Given the description of an element on the screen output the (x, y) to click on. 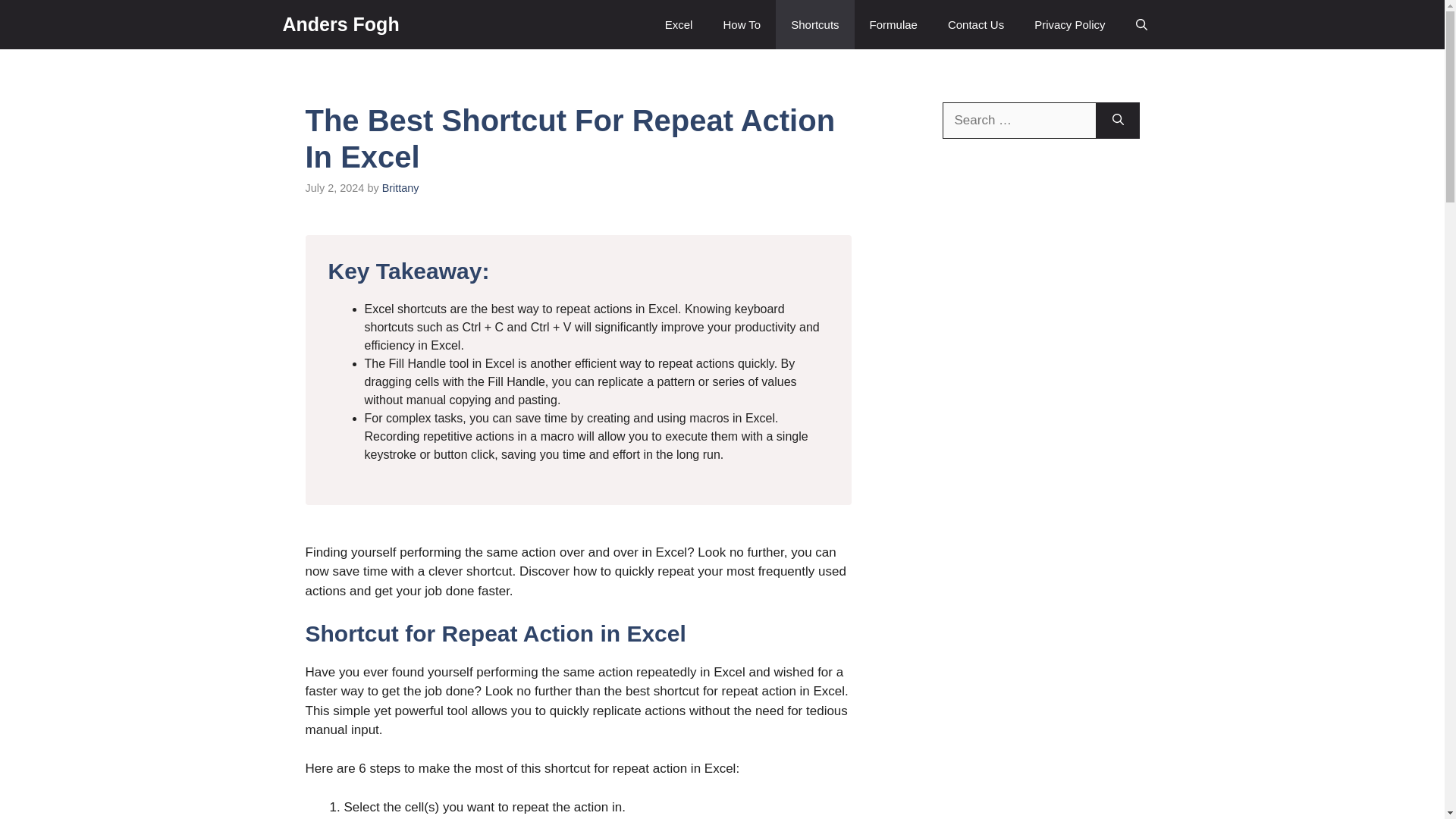
View all posts by Brittany (400, 187)
Search for: (1019, 120)
Contact Us (976, 24)
Excel (678, 24)
Privacy Policy (1069, 24)
Anders Fogh (340, 24)
Brittany (400, 187)
Shortcuts (814, 24)
How To (741, 24)
Formulae (893, 24)
